Given the description of an element on the screen output the (x, y) to click on. 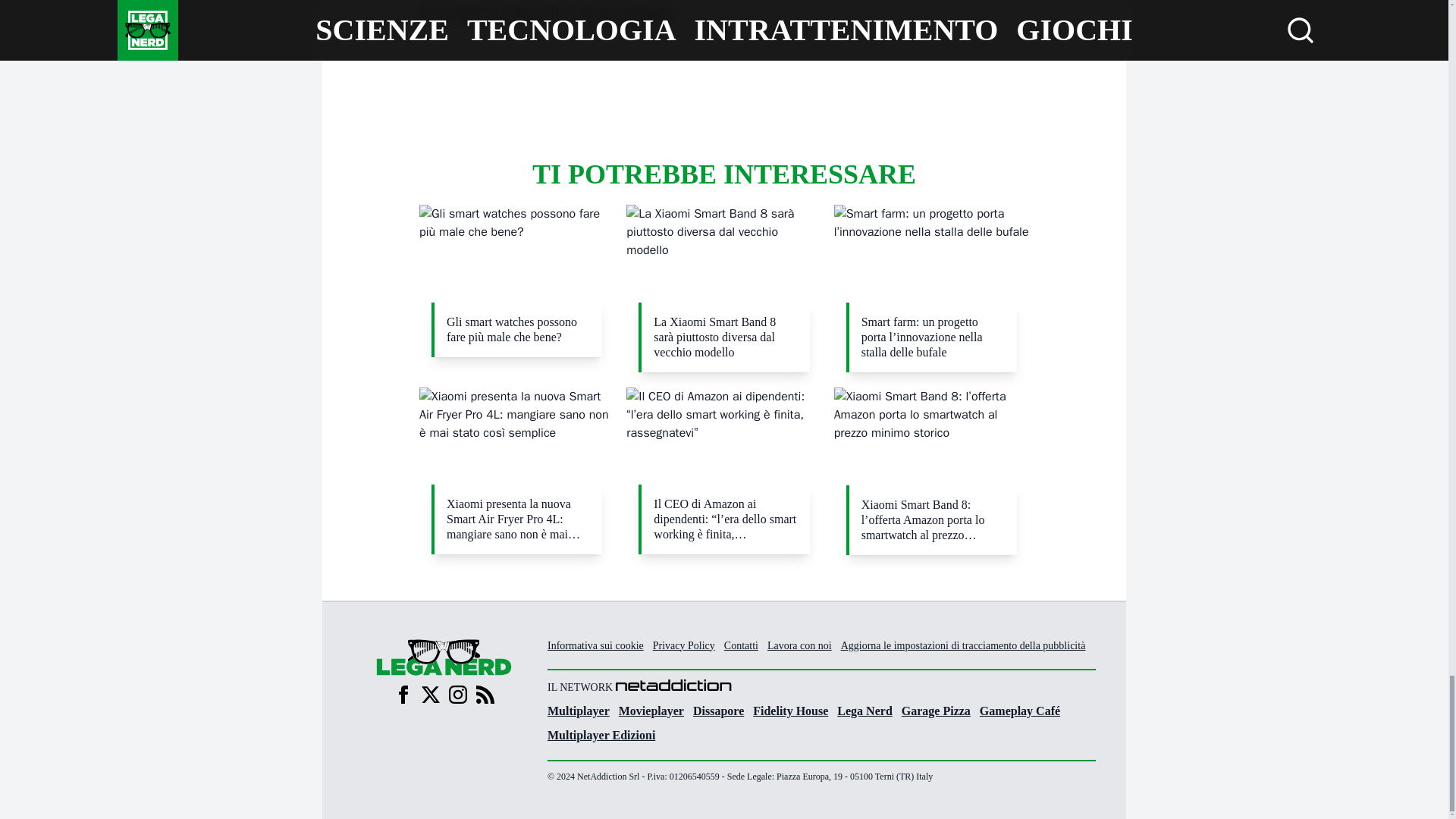
Privacy Policy (683, 645)
Fidelity House (790, 710)
Garage Pizza (936, 710)
Multiplayer Edizioni (601, 734)
Lega Nerd (864, 710)
Dissapore (718, 710)
Informativa sui cookie (595, 645)
Lavora con noi (799, 645)
Movieplayer (651, 710)
IL NETWORK (821, 685)
